Given the description of an element on the screen output the (x, y) to click on. 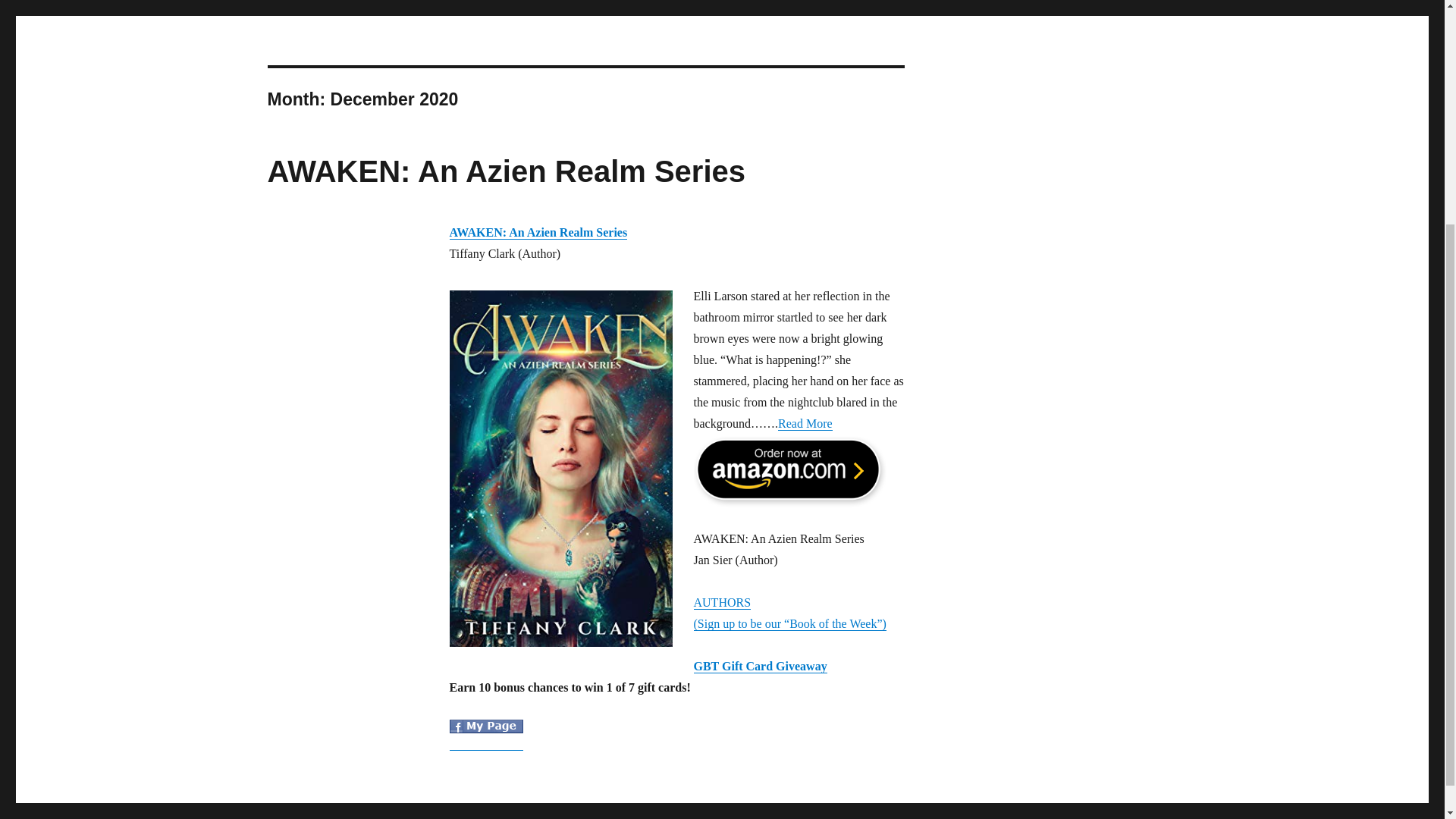
GBT Gift Card Giveaway (760, 666)
AWAKEN: An Azien Realm Series (505, 171)
AWAKEN: An Azien Realm Series (537, 232)
Book Reviews (537, 232)
Read More (804, 422)
